Given the description of an element on the screen output the (x, y) to click on. 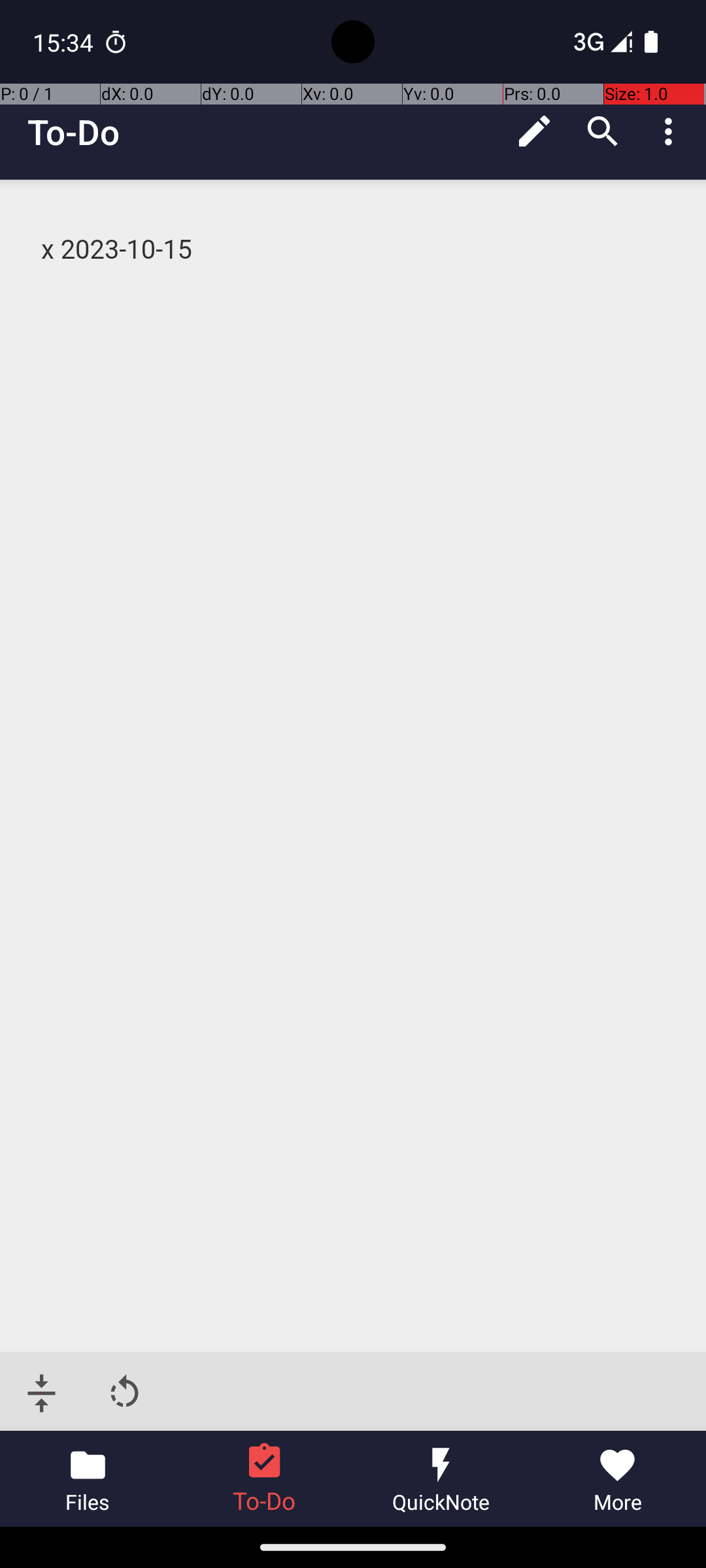
x 2023-10-15  Element type: android.widget.TextView (354, 249)
